Given the description of an element on the screen output the (x, y) to click on. 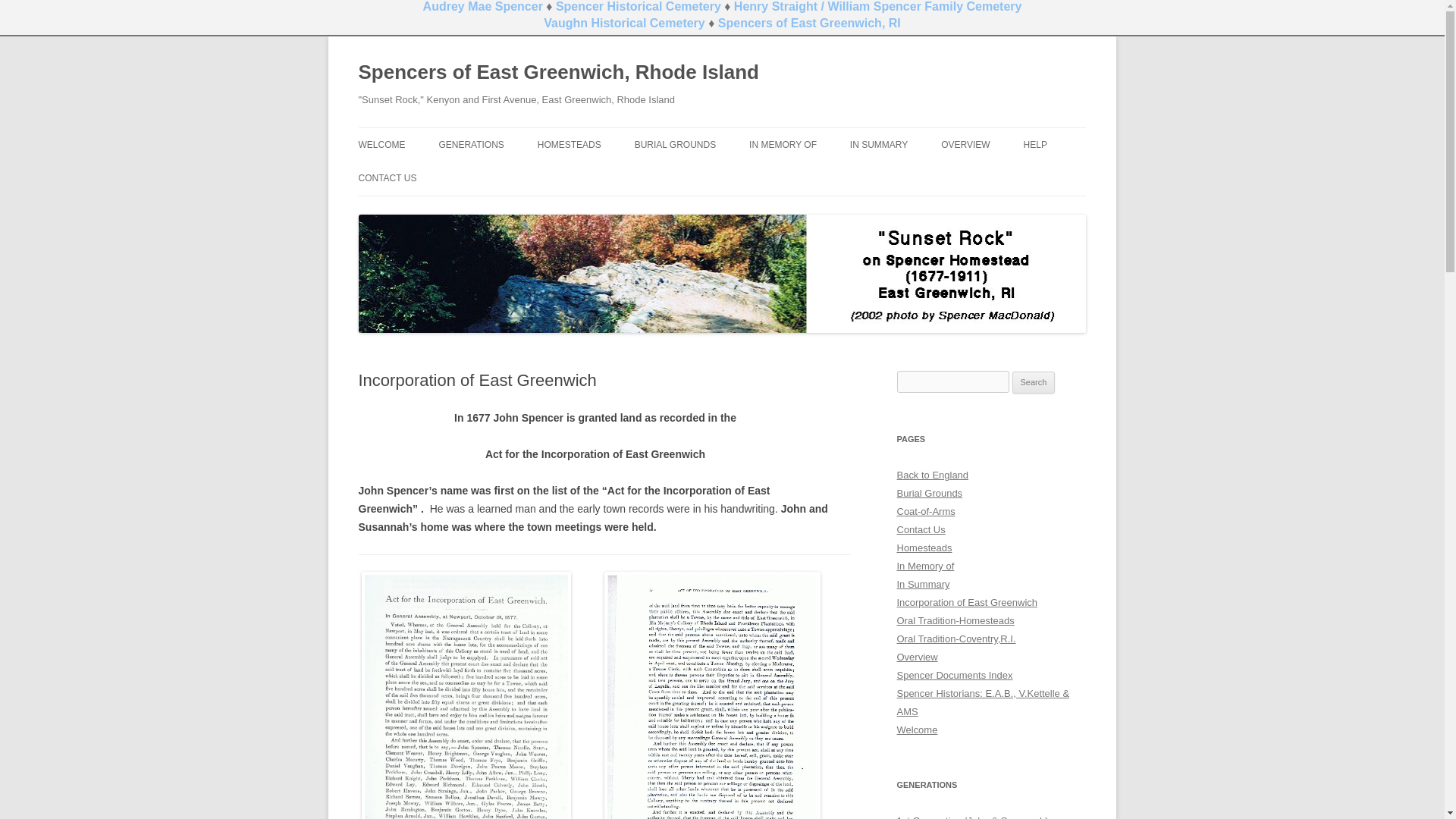
Spencer Documents Index (953, 674)
Vaughn Historical Cemetery (623, 22)
OVERVIEW (965, 144)
WELCOME (381, 144)
HOMESTEADS (569, 144)
IN MEMORY OF (782, 144)
Coat-of-Arms (925, 511)
Welcome (916, 729)
Overview (916, 656)
Spencers of East Greenwich, Rhode Island (558, 72)
